Given the description of an element on the screen output the (x, y) to click on. 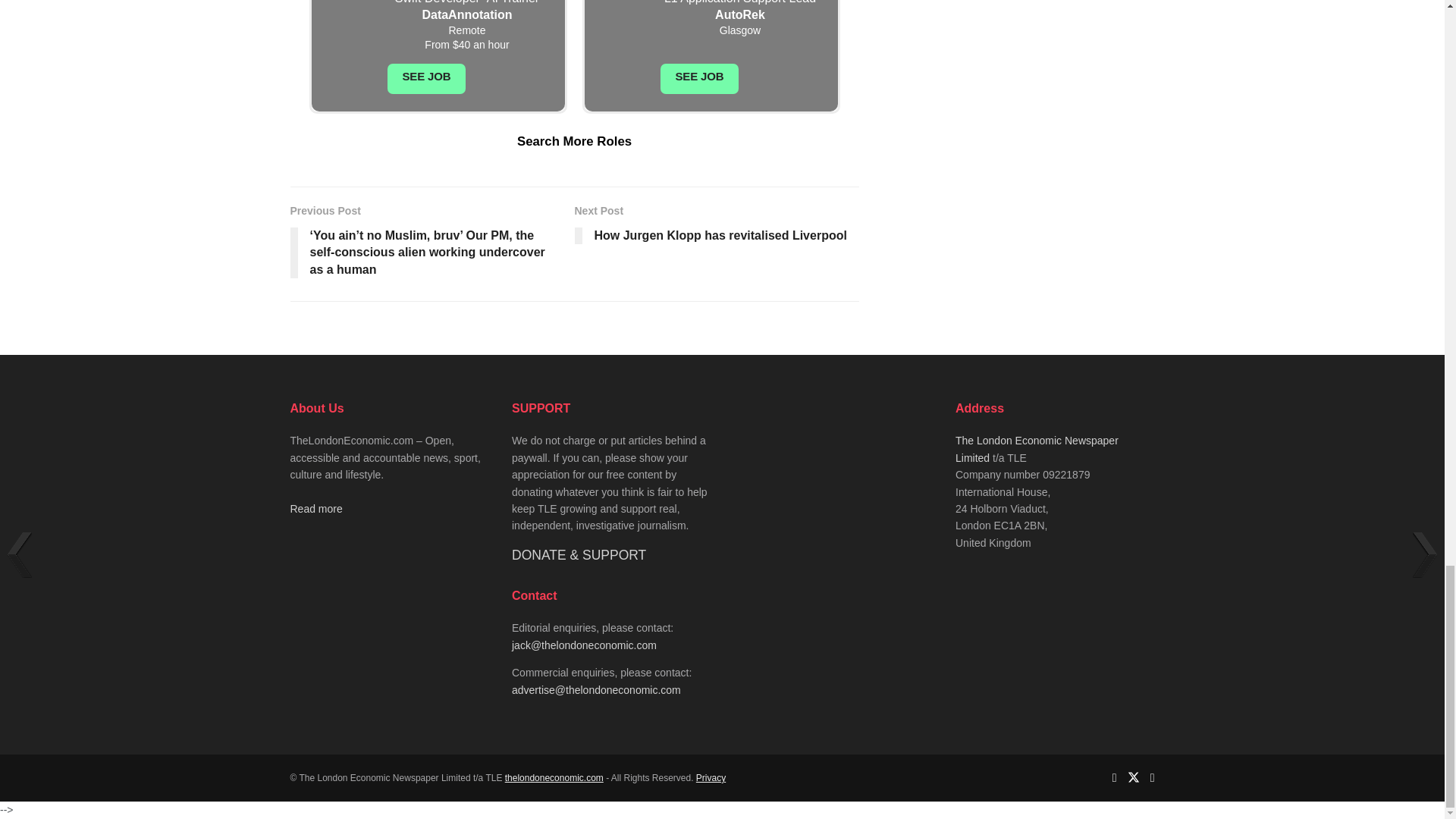
The London Economic (554, 777)
Privacy (710, 777)
